Given the description of an element on the screen output the (x, y) to click on. 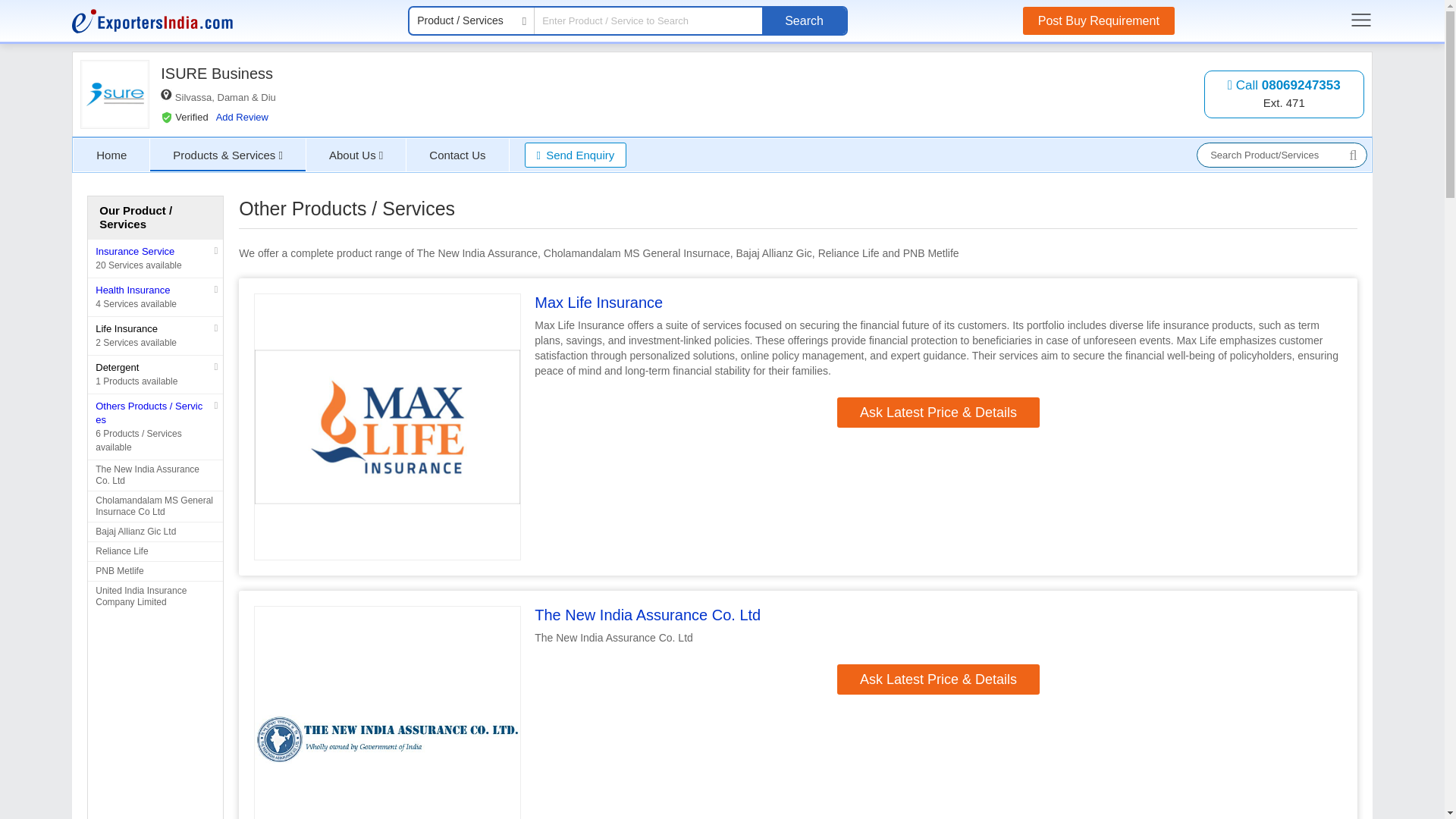
Insurance Service (135, 251)
Send Enquiry (575, 154)
About Us (355, 154)
Home (111, 154)
Send Inquiry to ISURE Business - ISURE Business (575, 154)
Post Buy Requirement (1098, 19)
Search (1283, 94)
Contact Us (803, 20)
